Given the description of an element on the screen output the (x, y) to click on. 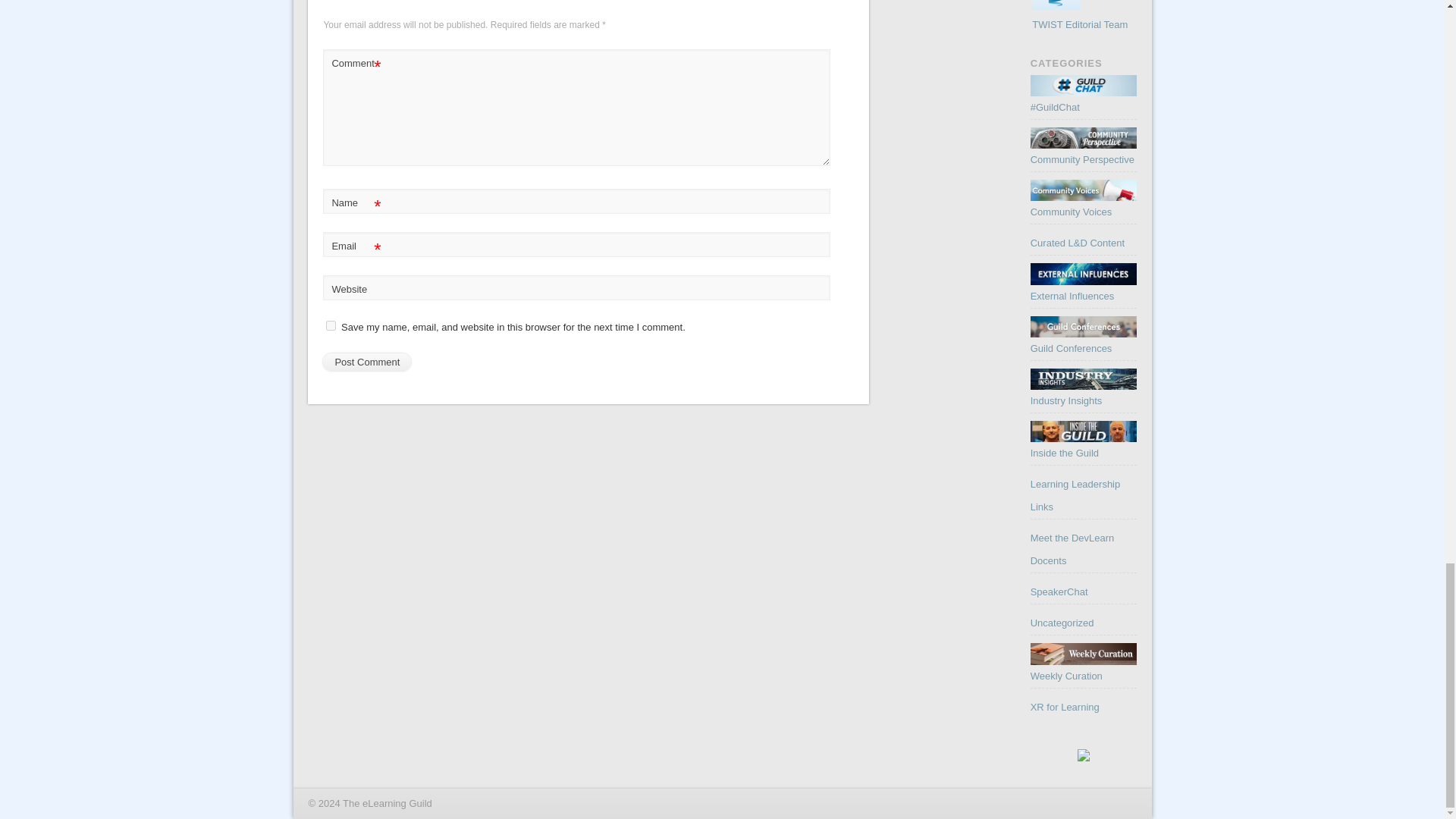
View all posts filed under Community Voices (1071, 211)
View all posts filed under Community Perspective (1083, 146)
Community Perspective (1083, 137)
yes (331, 325)
View all posts filed under Community Perspective (1082, 159)
Community Voices (1083, 189)
Post Comment (366, 361)
View all posts filed under Community Voices (1083, 198)
